Given the description of an element on the screen output the (x, y) to click on. 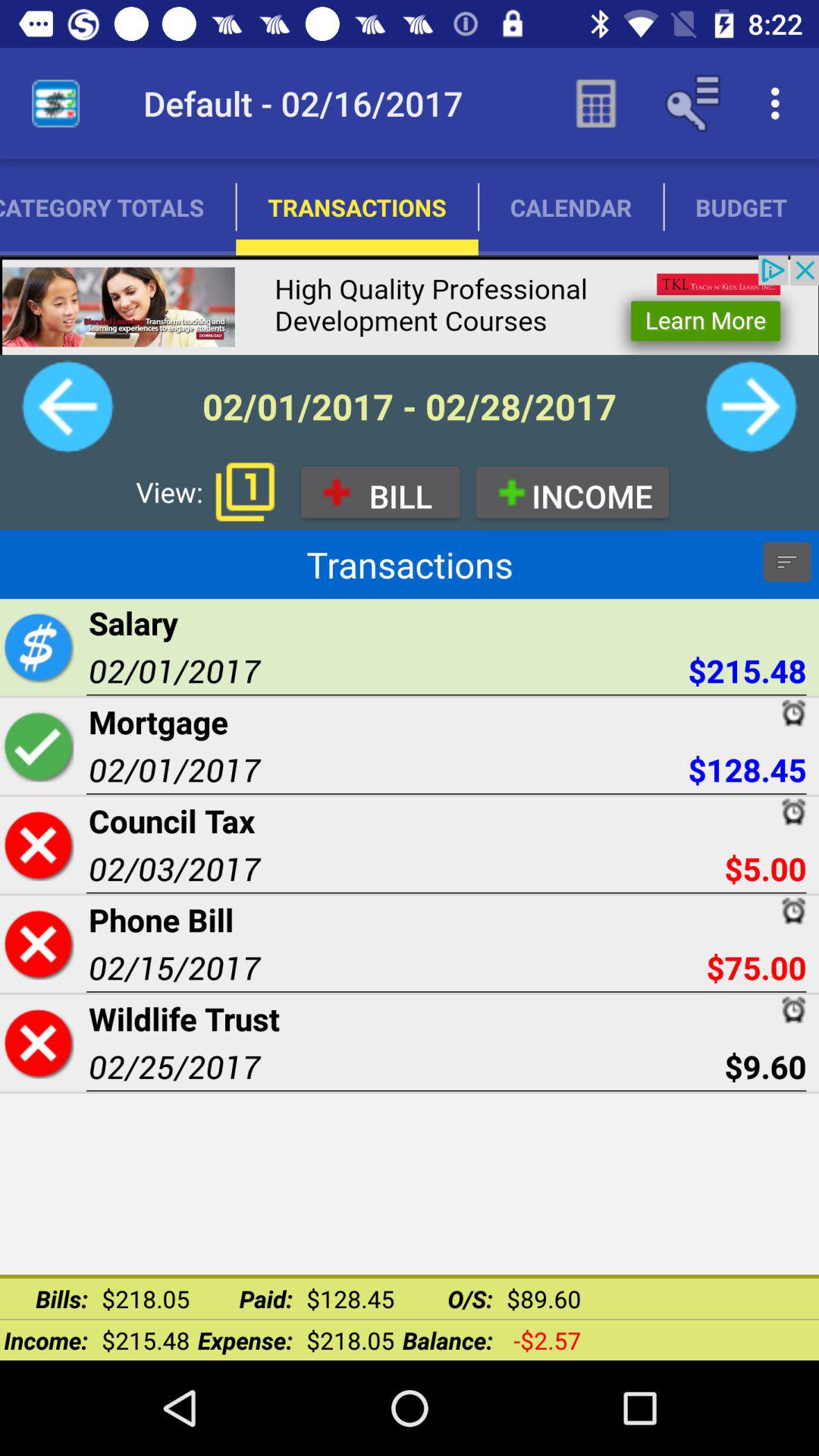
information (787, 561)
